Given the description of an element on the screen output the (x, y) to click on. 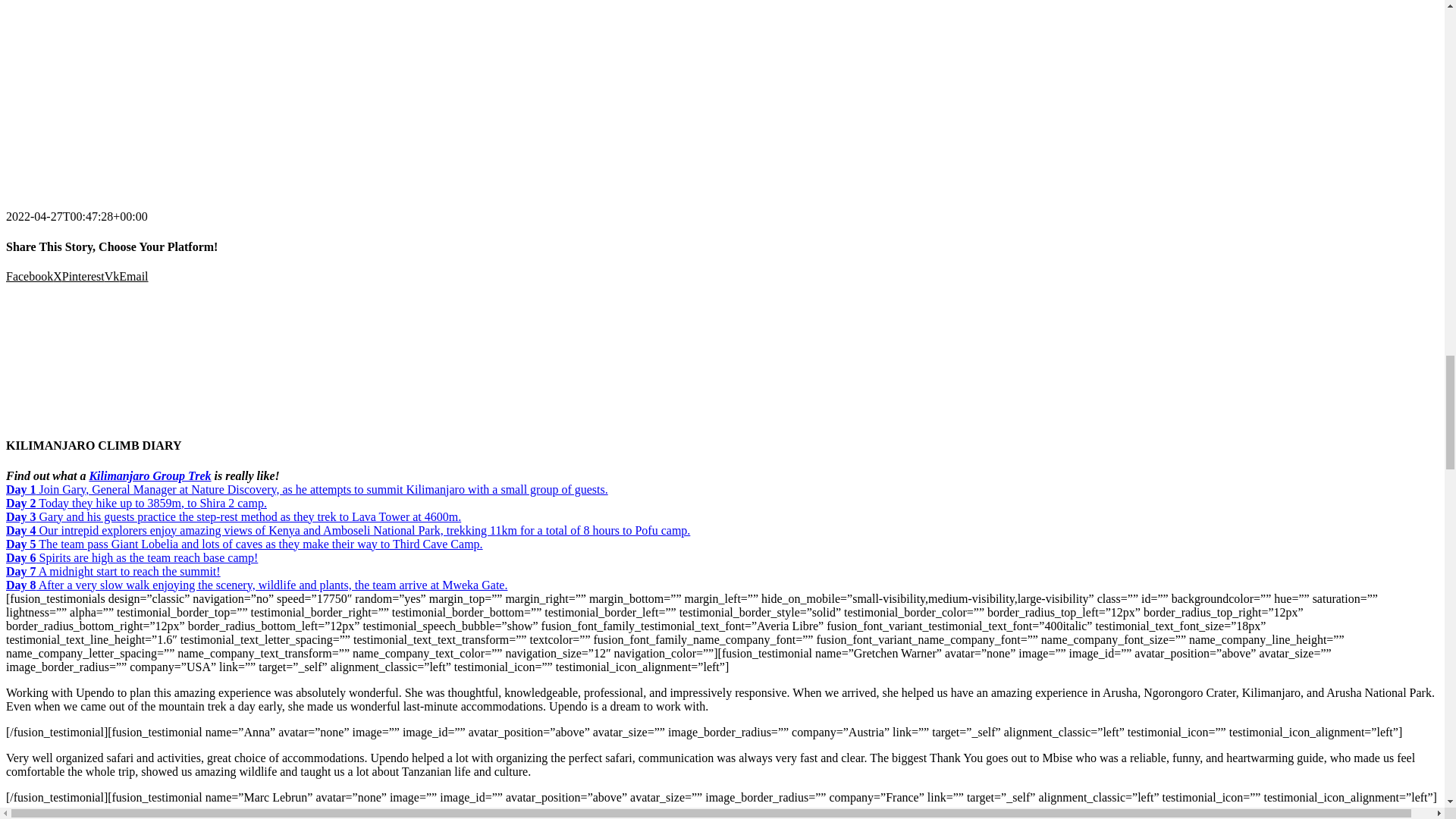
Facebook (28, 276)
Pinterest (83, 276)
Vk (111, 276)
Email (133, 276)
